Given the description of an element on the screen output the (x, y) to click on. 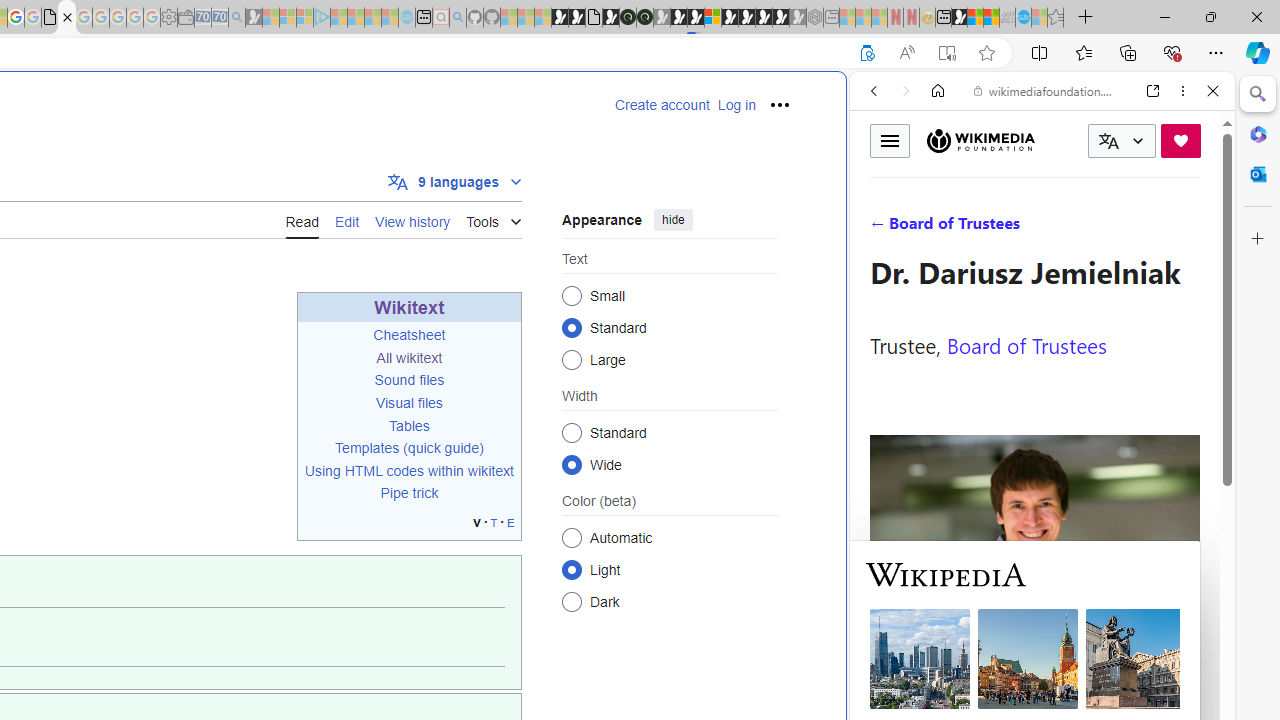
t (493, 522)
Pipe trick (409, 493)
Create account (662, 105)
